Given the description of an element on the screen output the (x, y) to click on. 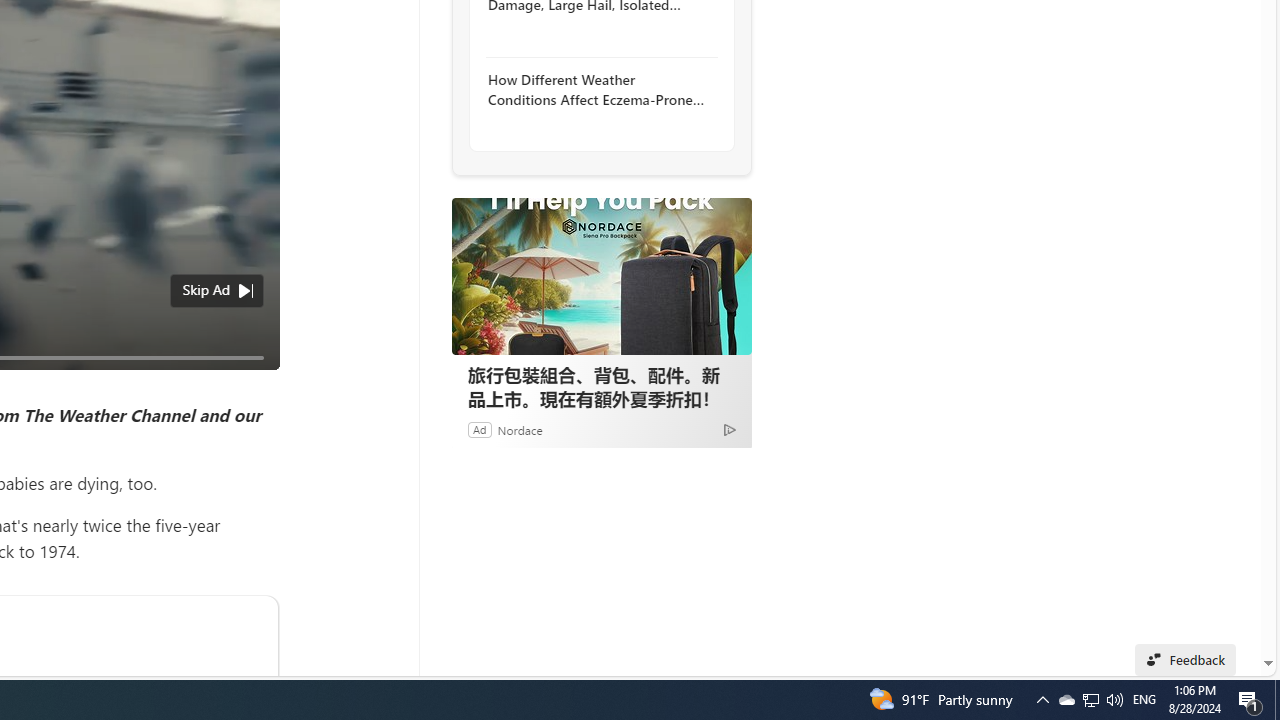
Ad Choice (729, 429)
Skip Ad (205, 290)
Unmute (253, 381)
Feedback (1185, 659)
Ad (479, 429)
How Different Weather Conditions Affect Eczema-Prone Skin (596, 89)
